Given the description of an element on the screen output the (x, y) to click on. 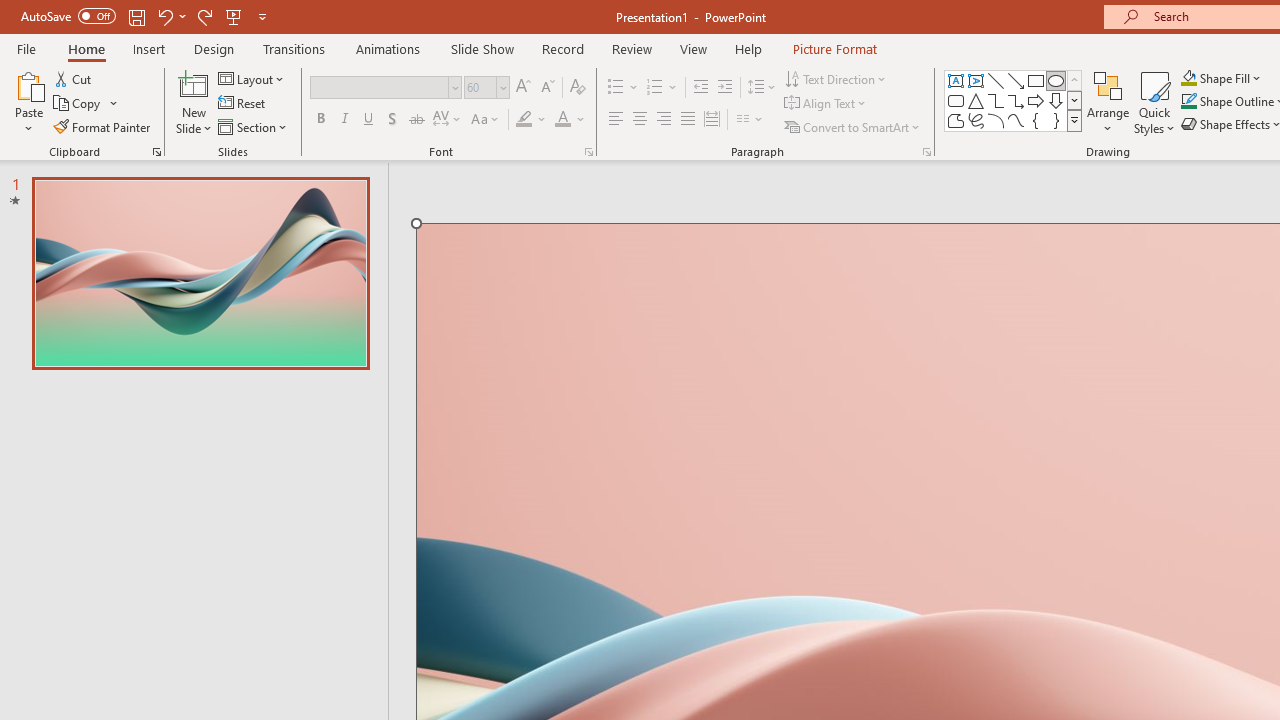
Shape Outline Blue, Accent 1 (1188, 101)
